Given the description of an element on the screen output the (x, y) to click on. 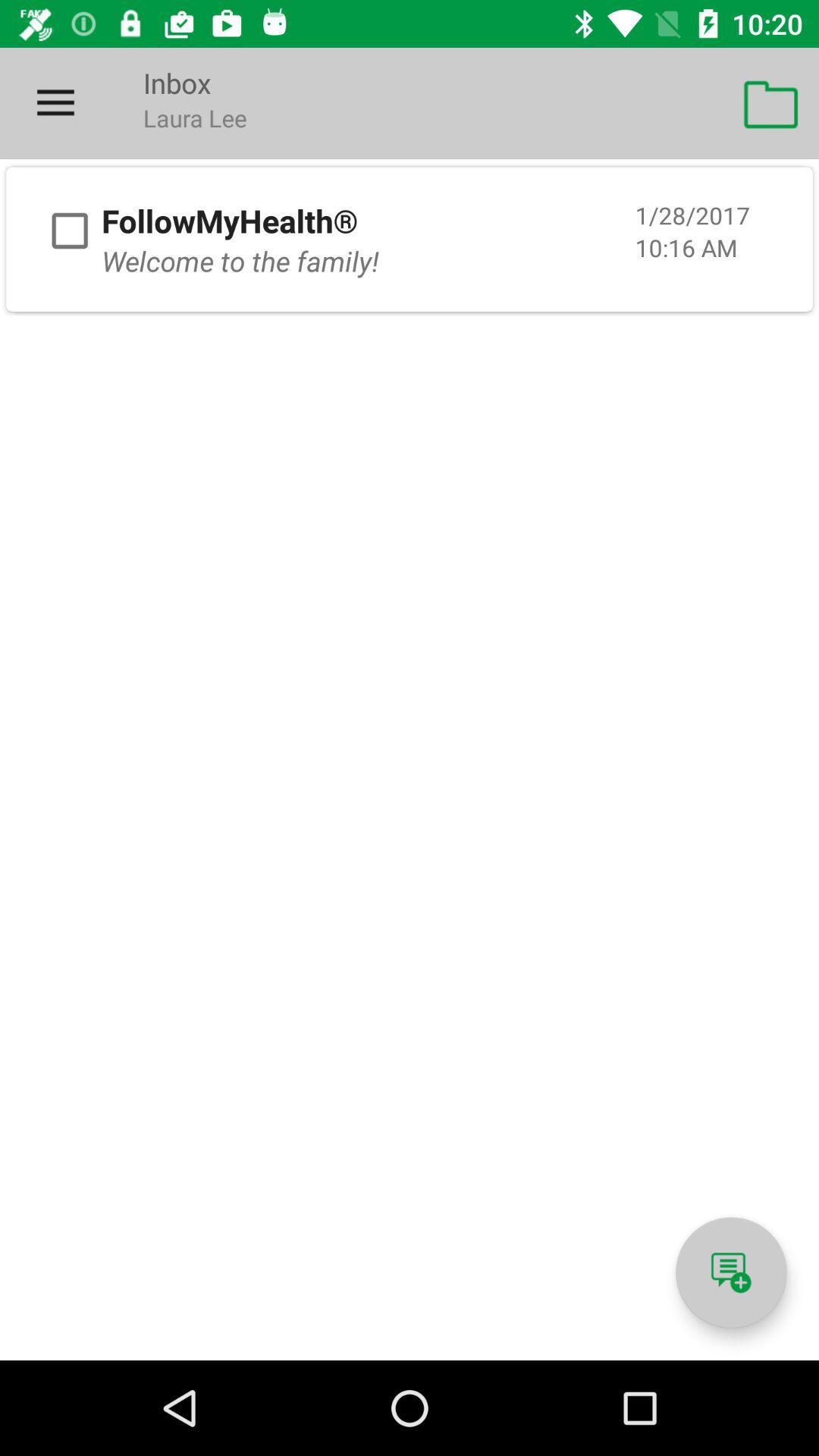
launch the icon to the right of laura lee icon (771, 103)
